Given the description of an element on the screen output the (x, y) to click on. 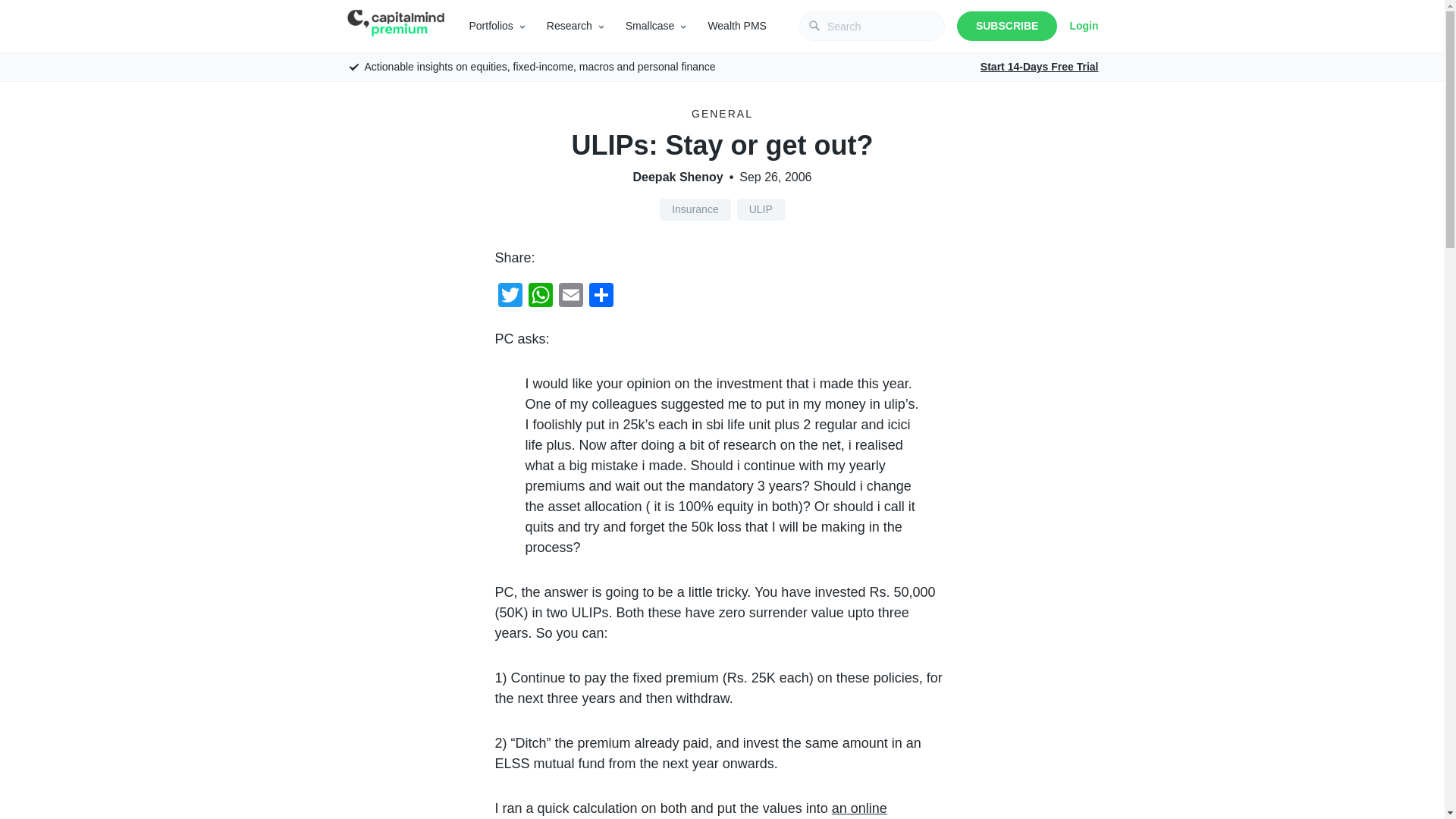
SUBSCRIBE (1006, 25)
Search (21, 7)
Portfolios (490, 26)
Smallcase (650, 26)
Research (569, 26)
Login (1082, 26)
Wealth PMS (737, 25)
Posts by Deepak Shenoy (678, 177)
